Given the description of an element on the screen output the (x, y) to click on. 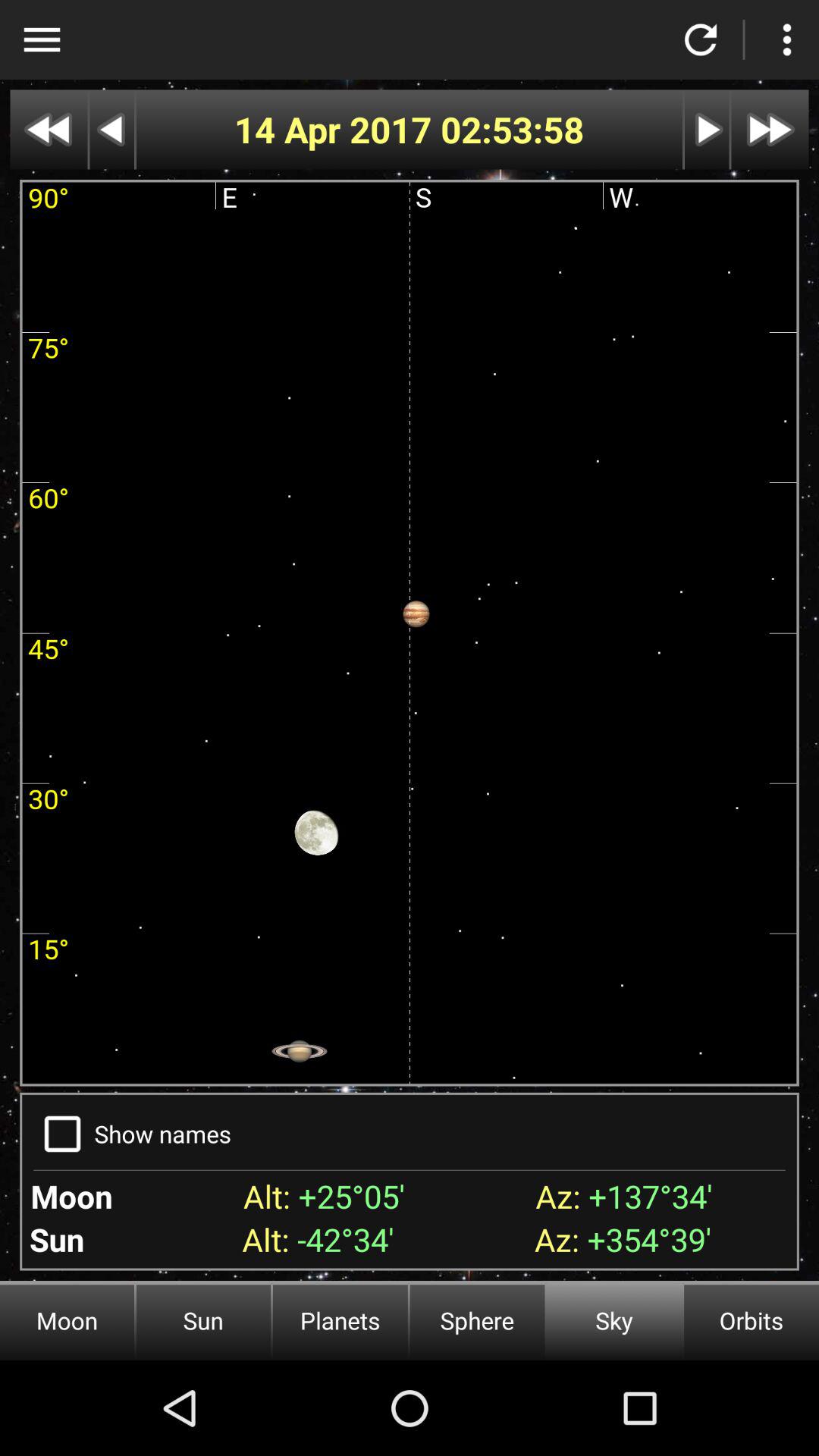
flip until the 02:53:58 (512, 129)
